Given the description of an element on the screen output the (x, y) to click on. 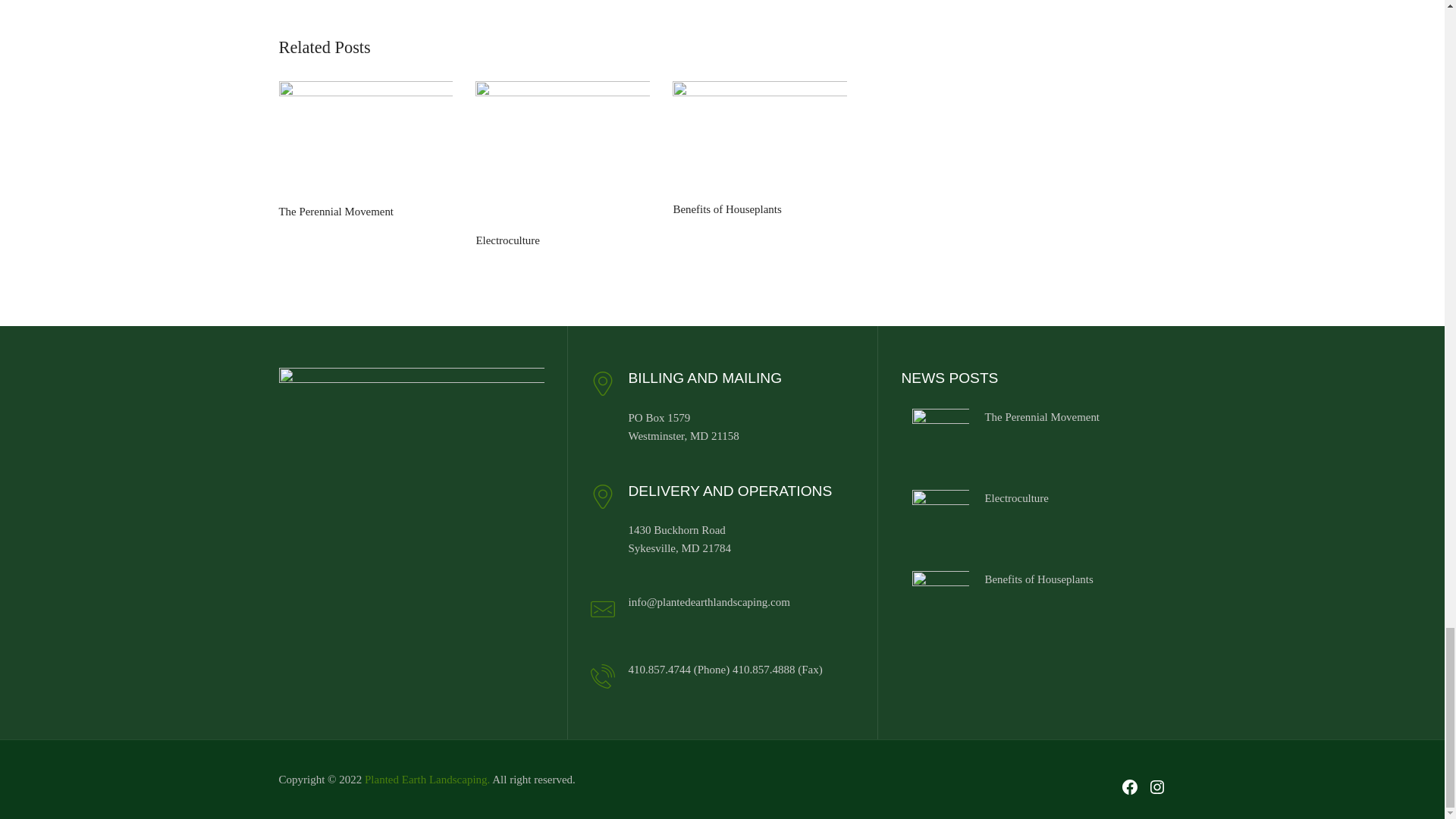
The Perennial Movement (365, 140)
Benefits of Houseplants (759, 139)
The Perennial Movement (1041, 417)
Electroculture (562, 154)
The Perennial Movement (940, 435)
